Given the description of an element on the screen output the (x, y) to click on. 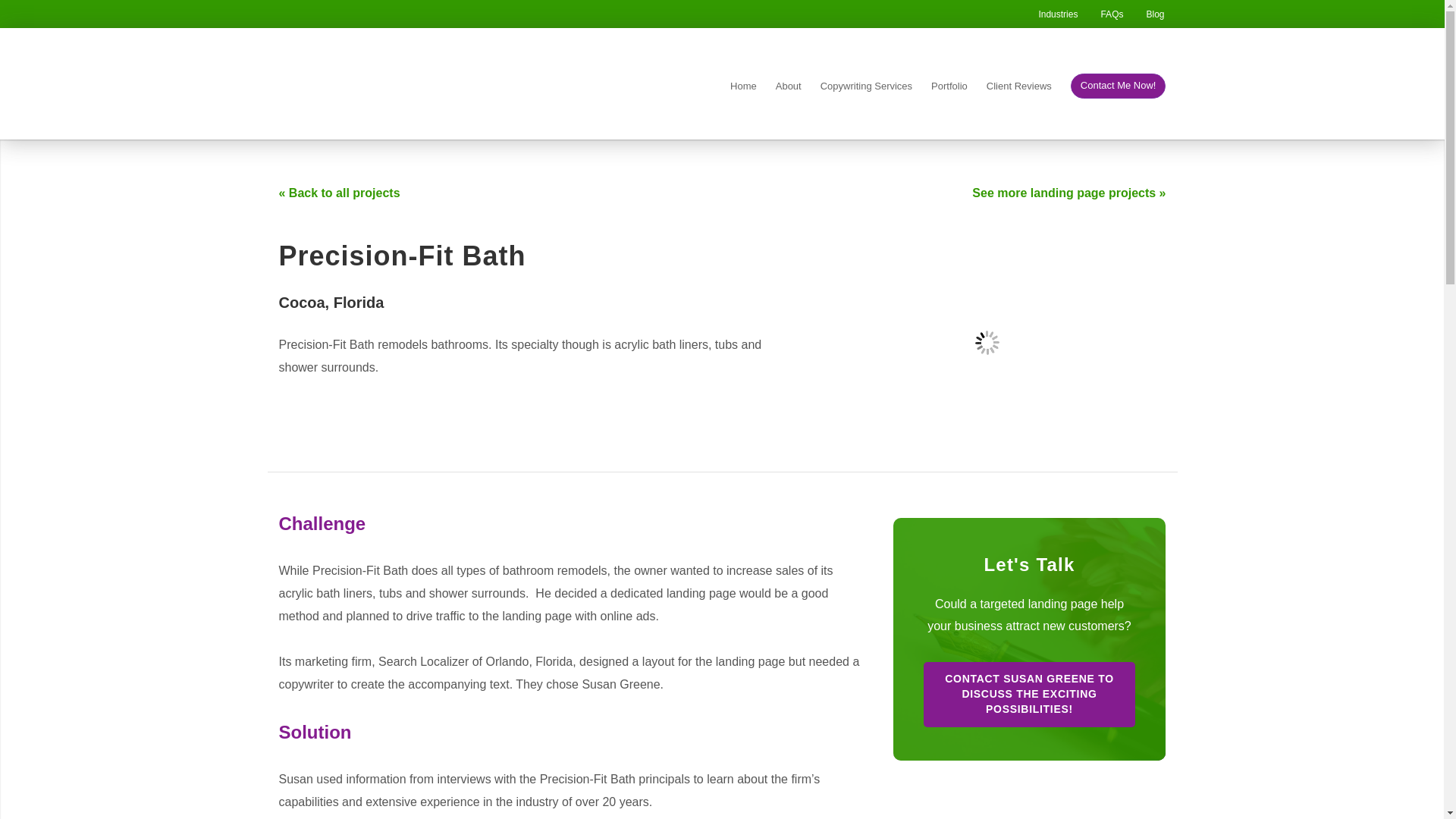
Portfolio (949, 89)
Home (743, 89)
Client Reviews (1019, 89)
Industries (1057, 14)
Copywriting Services (866, 89)
FAQs (1111, 14)
About (789, 89)
Blog (1154, 14)
